Given the description of an element on the screen output the (x, y) to click on. 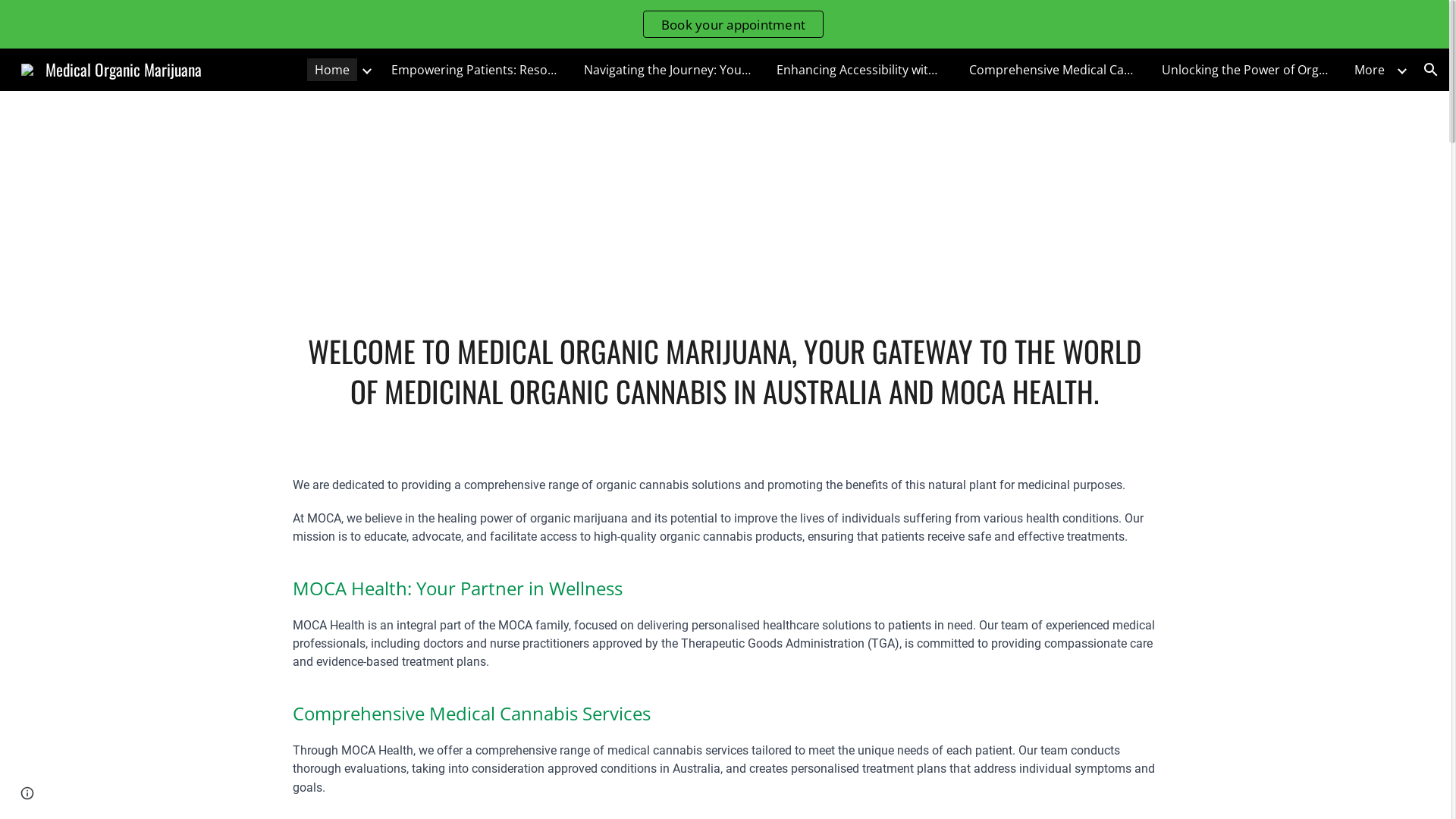
Comprehensive Medical Cannabis Services at MOCA Health Element type: text (1052, 69)
More Element type: text (1369, 69)
Expand/Collapse Element type: hover (1401, 69)
Book your appointment Element type: text (732, 24)
Medical Organic Marijuana Element type: text (111, 66)
Expand/Collapse Element type: hover (366, 69)
Home Element type: text (332, 69)
